Given the description of an element on the screen output the (x, y) to click on. 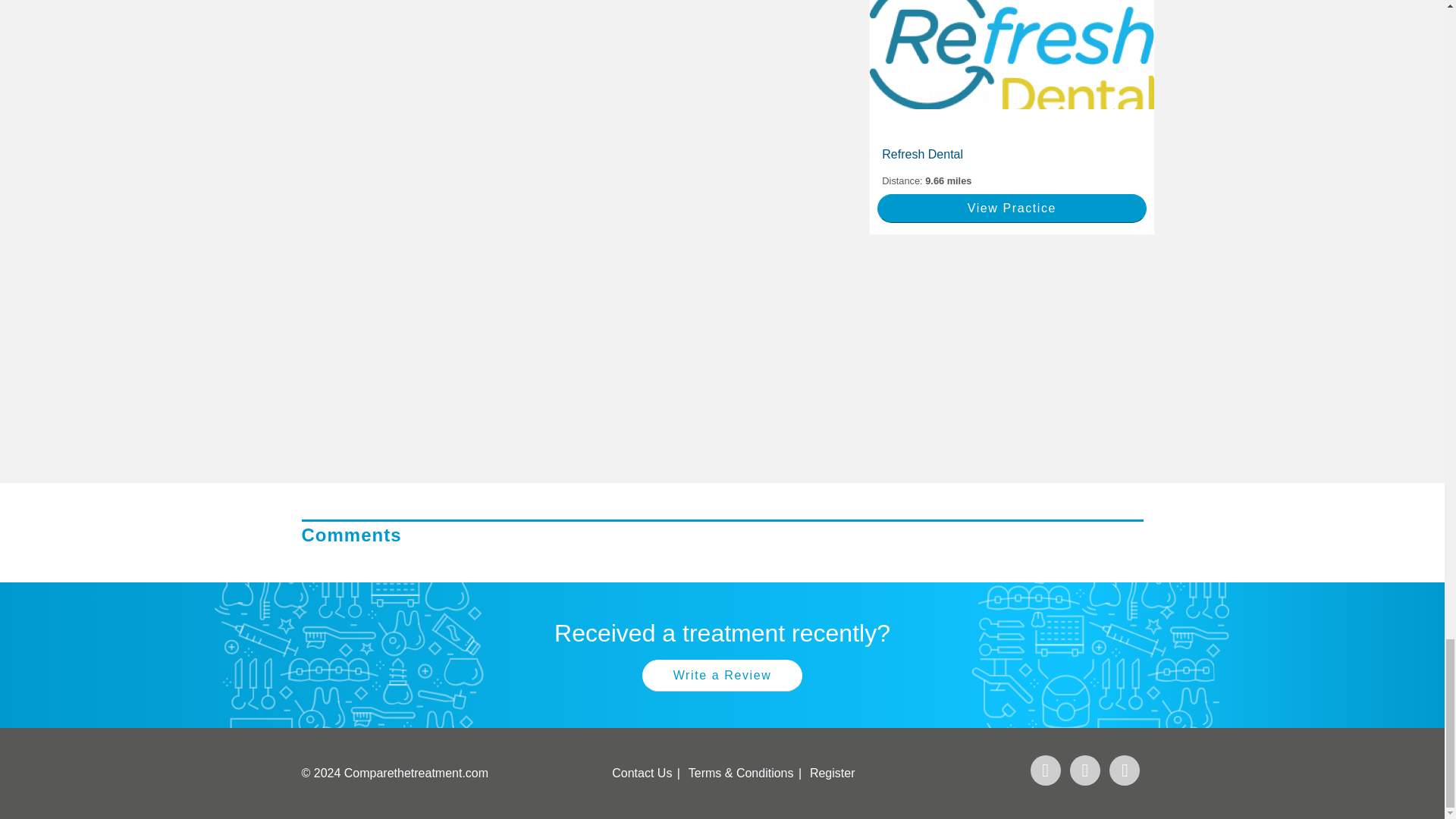
Refresh Dental (1011, 154)
View Practice (1011, 208)
